Given the description of an element on the screen output the (x, y) to click on. 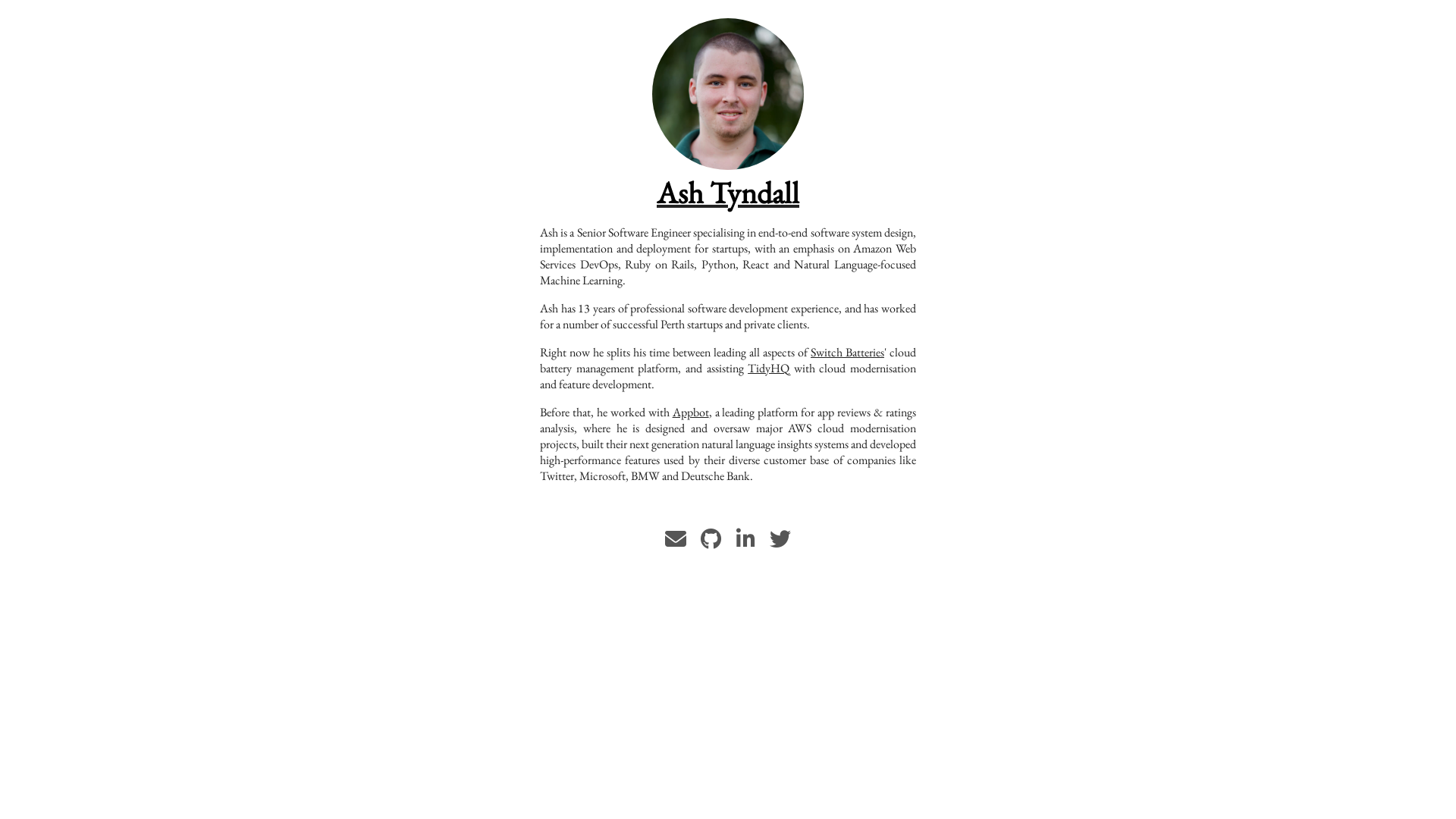
Switch Batteries Element type: text (847, 352)
Ash Tyndall Element type: hover (727, 91)
Ash on LinkedIn Element type: hover (745, 543)
Ash on Twitter Element type: hover (780, 543)
TidyHQ Element type: text (768, 368)
Email Ash Element type: hover (675, 543)
Appbot Element type: text (690, 412)
Ash on Github Element type: hover (710, 543)
Ash Tyndall Element type: text (727, 192)
